Given the description of an element on the screen output the (x, y) to click on. 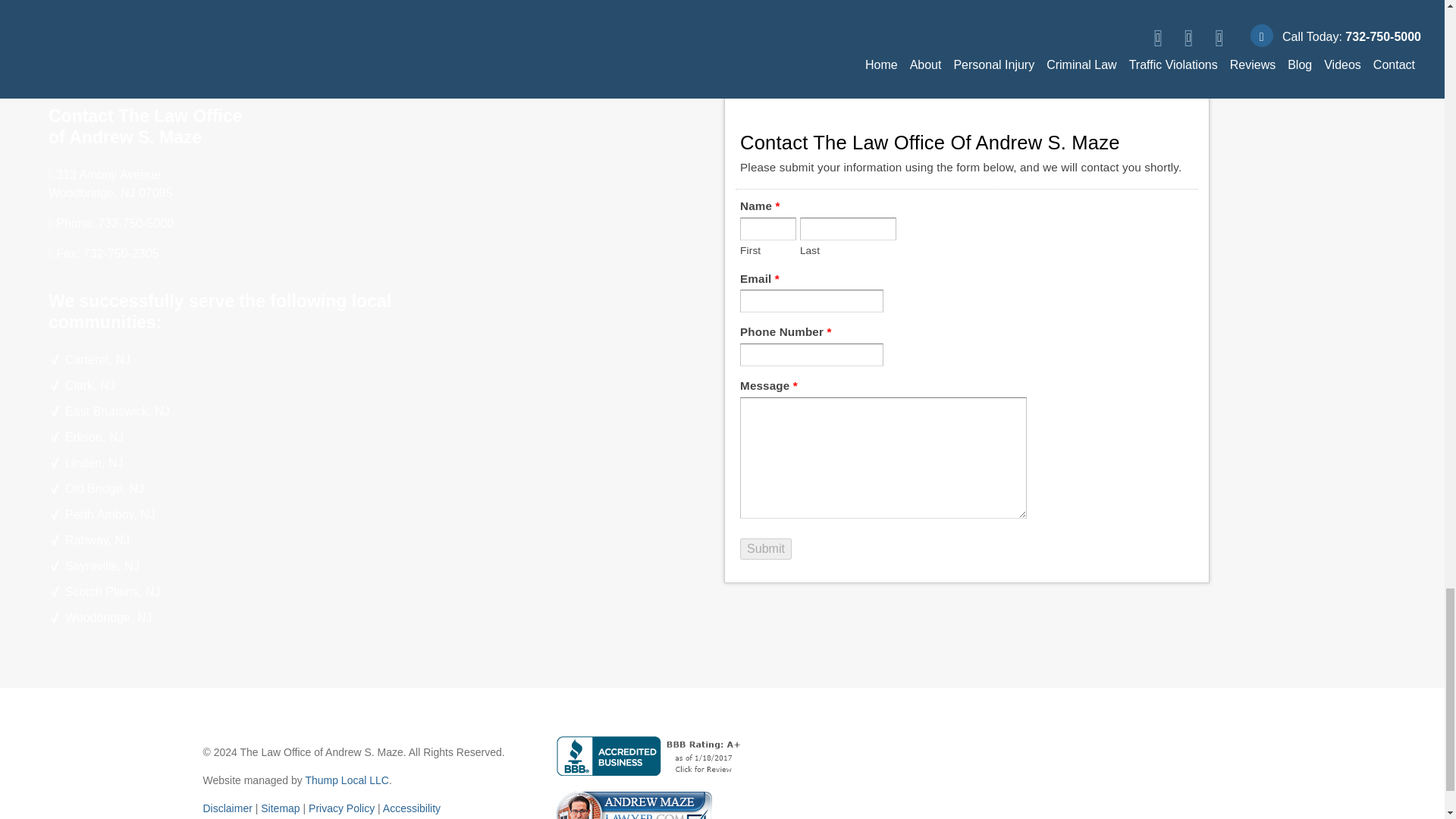
Submit (765, 548)
